Given the description of an element on the screen output the (x, y) to click on. 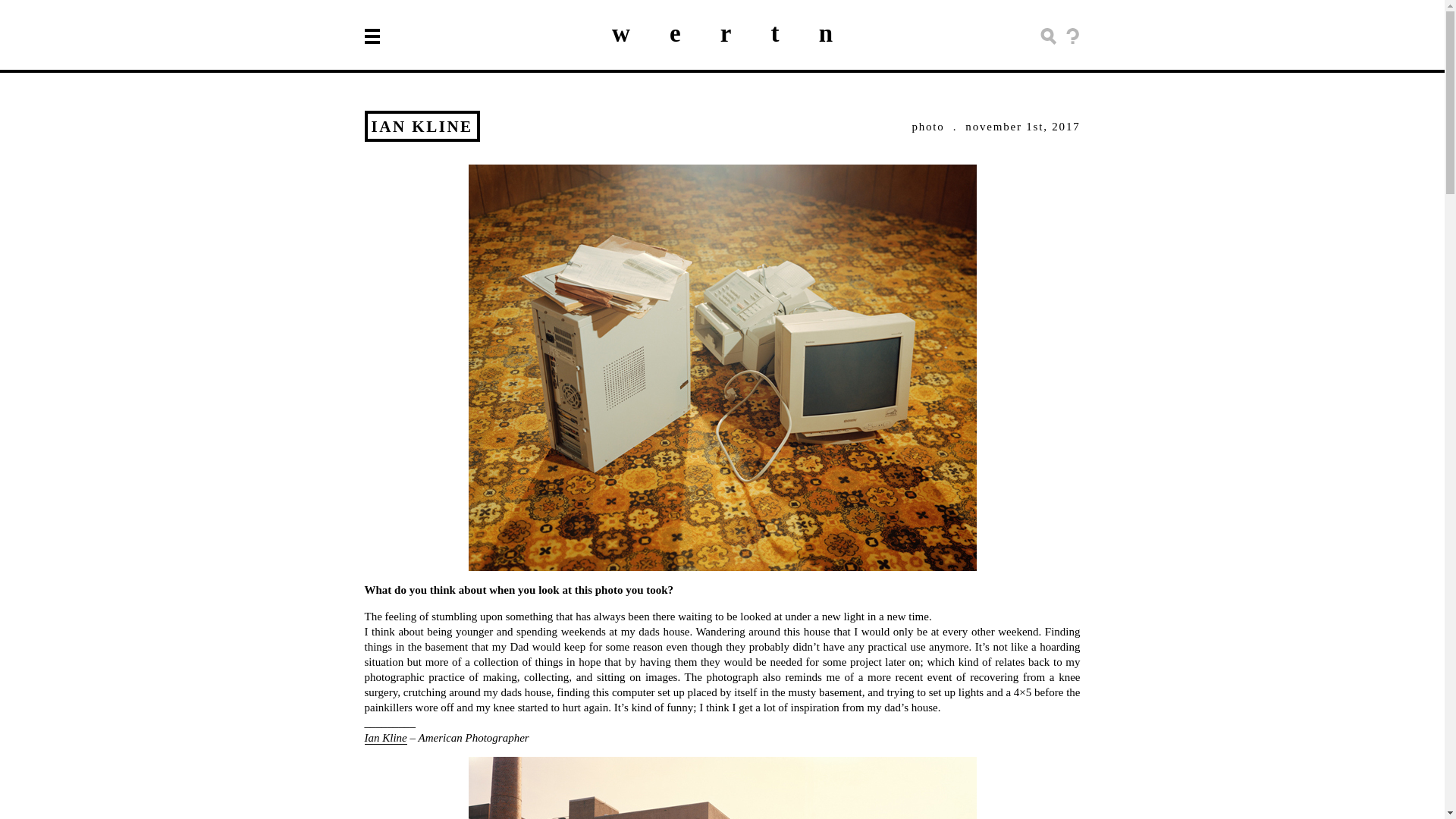
photo (927, 125)
wertn (741, 32)
Ian Kline (385, 737)
